Given the description of an element on the screen output the (x, y) to click on. 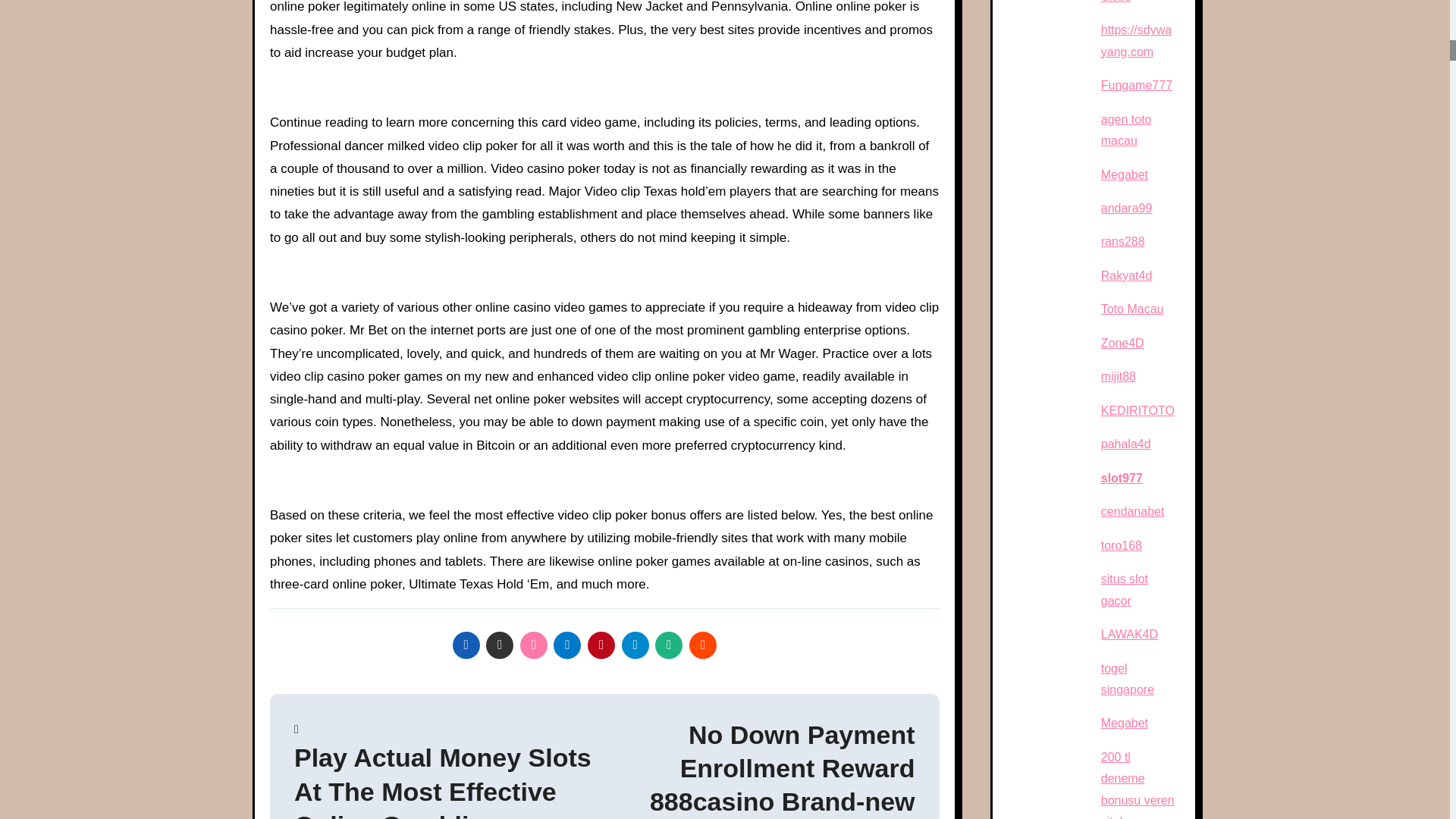
No Down Payment Enrollment Reward 888casino Brand-new Jacket (759, 768)
